Given the description of an element on the screen output the (x, y) to click on. 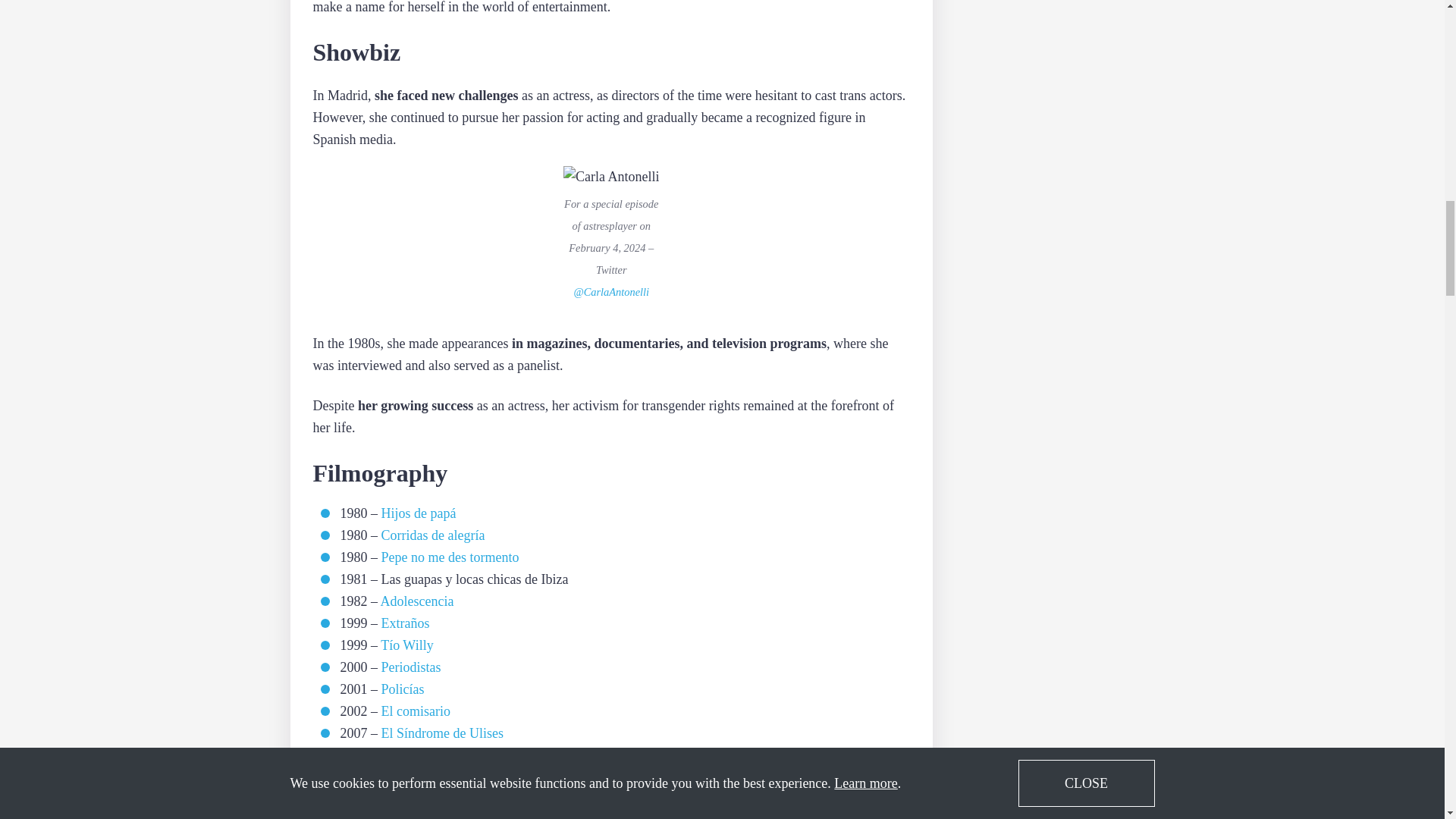
Adolescencia (417, 601)
Pepe no me des tormento (449, 557)
Periodistas (410, 668)
El comisario (414, 711)
El vuelo del tren (425, 755)
